Given the description of an element on the screen output the (x, y) to click on. 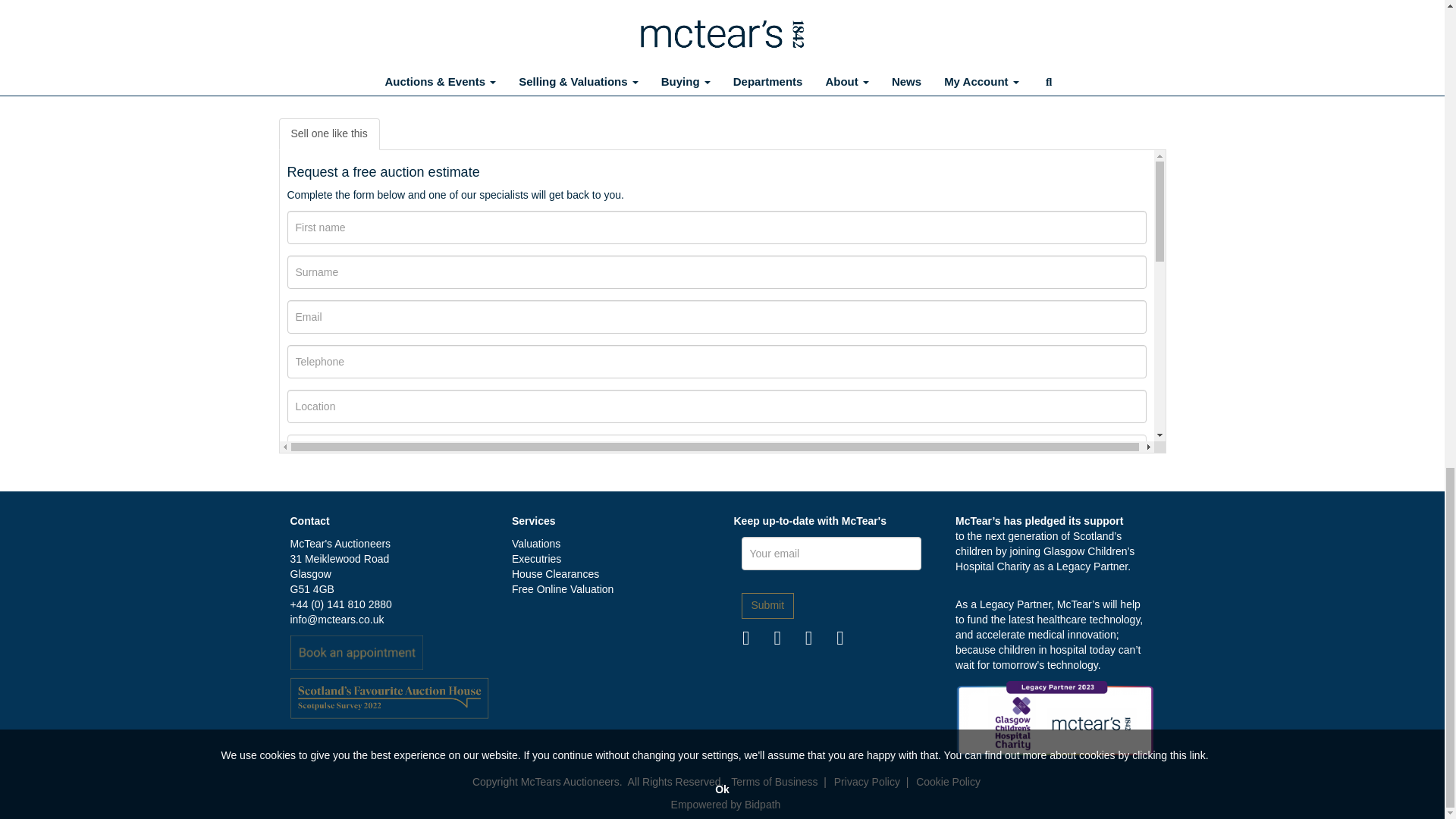
Submit (767, 605)
Click for high resolution (500, 2)
